Given the description of an element on the screen output the (x, y) to click on. 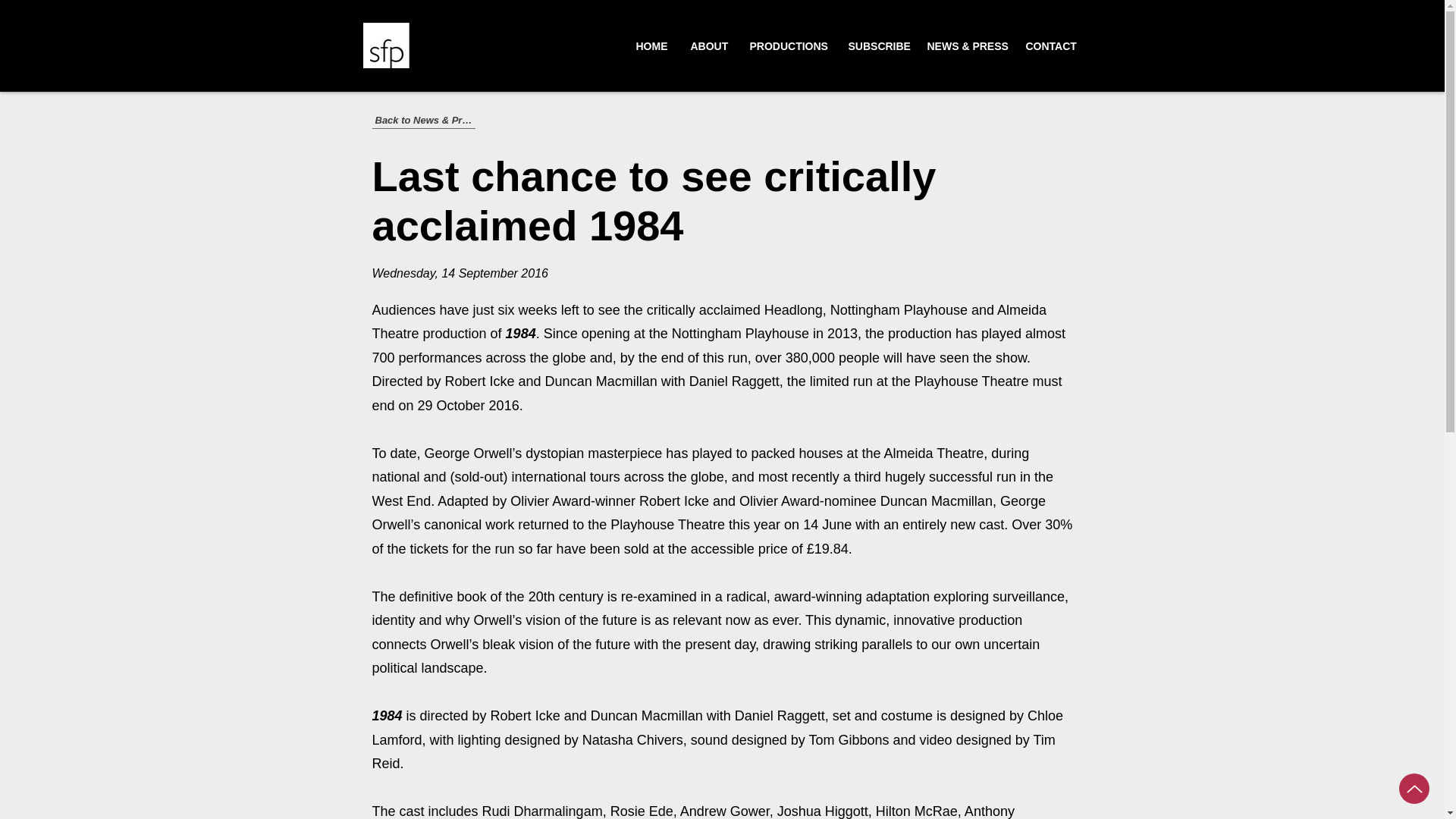
ABOUT (708, 46)
SUBSCRIBE (876, 46)
CONTACT (1050, 46)
PRODUCTIONS (787, 46)
HOME (650, 46)
